Given the description of an element on the screen output the (x, y) to click on. 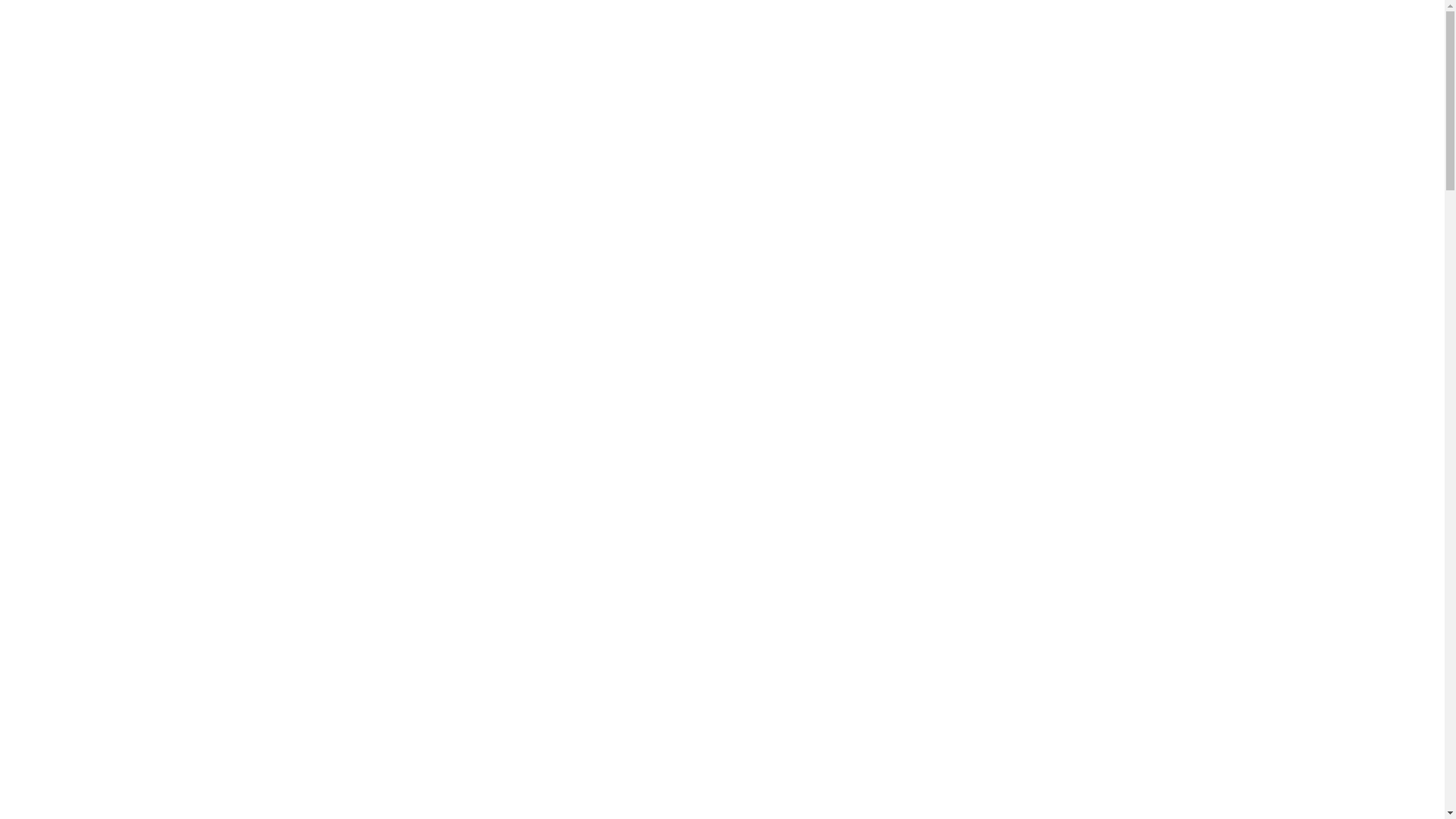
1Collectibles Element type: text (354, 48)
About Element type: text (590, 79)
2021/22, Element type: text (753, 172)
Home Element type: text (292, 119)
Products from Topps, Element type: text (821, 172)
ADD TO WISHLIST
ADDED TO WISHLIST Element type: text (854, 593)
Soccer Element type: text (885, 172)
ADD TO CART
ADDED
SOLD OUT
PRE-ORDER Element type: text (1020, 787)
SEARCH Element type: text (1134, 83)
PRIVACY POLICY Element type: text (676, 721)
EOY Sale Element type: text (401, 79)
Soccer Breaks Element type: text (535, 79)
Products Element type: text (342, 80)
ADD TO COMPARE
ADDED TO COMPARE Element type: text (856, 620)
Home Element type: text (291, 79)
Topps Element type: text (794, 324)
Event Tickets Element type: text (462, 79)
ADD TO CART
ADDED
SOLD OUT
PRE-ORDER Element type: text (1011, 548)
Bag (0) Element type: text (1028, 48)
